Given the description of an element on the screen output the (x, y) to click on. 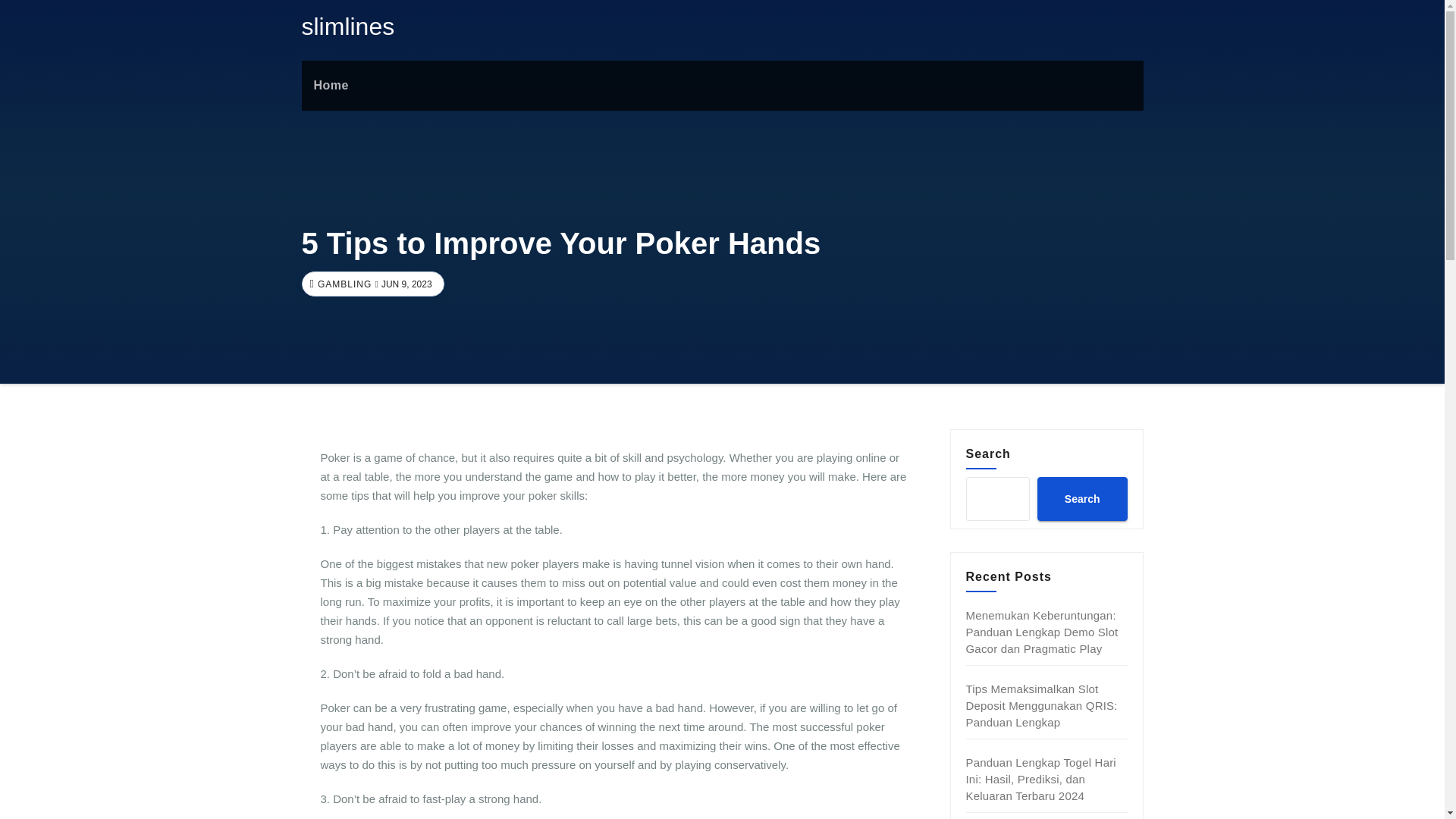
Home (331, 85)
slimlines (347, 26)
GAMBLING (342, 284)
Home (331, 85)
Search (1081, 498)
